Given the description of an element on the screen output the (x, y) to click on. 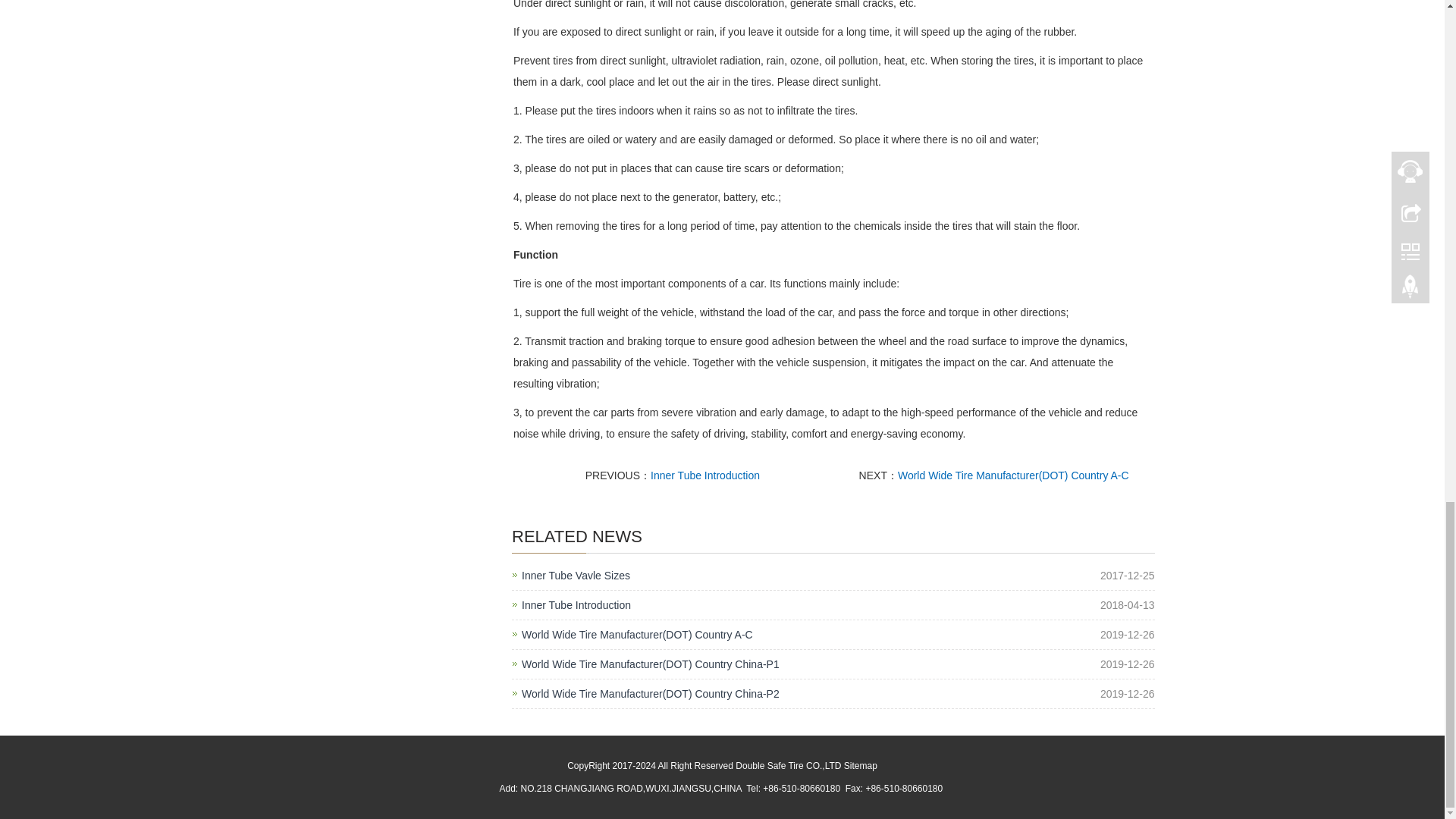
Inner Tube Introduction (705, 475)
Inner Tube Introduction (575, 605)
Inner Tube Introduction (705, 475)
Inner Tube Vavle Sizes (575, 575)
